Given the description of an element on the screen output the (x, y) to click on. 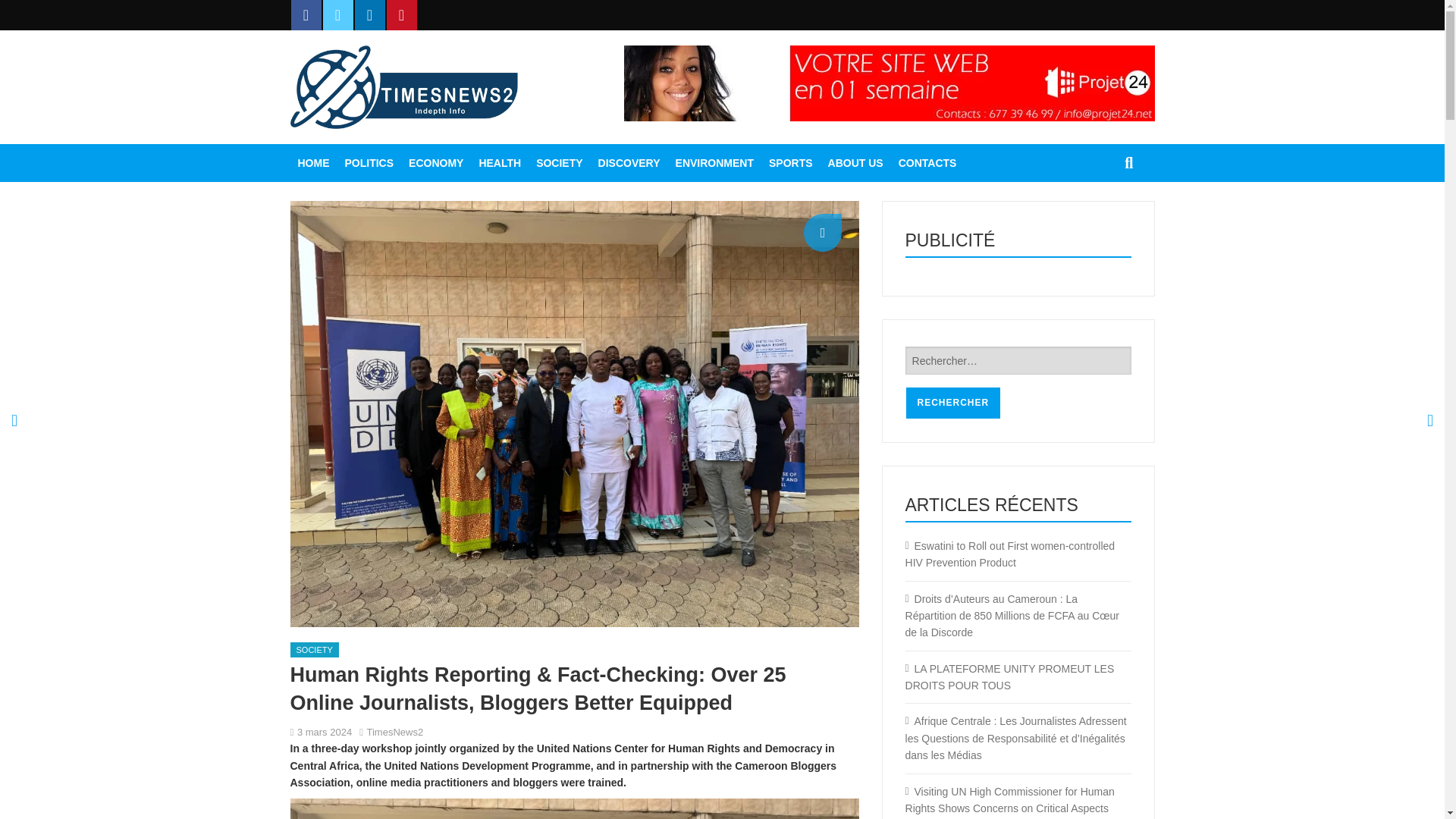
Rechercher (953, 402)
LinkedIn (370, 15)
CONTACTS (927, 162)
ECONOMY (435, 162)
POLITICS (368, 162)
ENVIRONMENT (714, 162)
HOME (312, 162)
Facebook (306, 15)
ABOUT US (856, 162)
3 mars 2024 (324, 731)
